Given the description of an element on the screen output the (x, y) to click on. 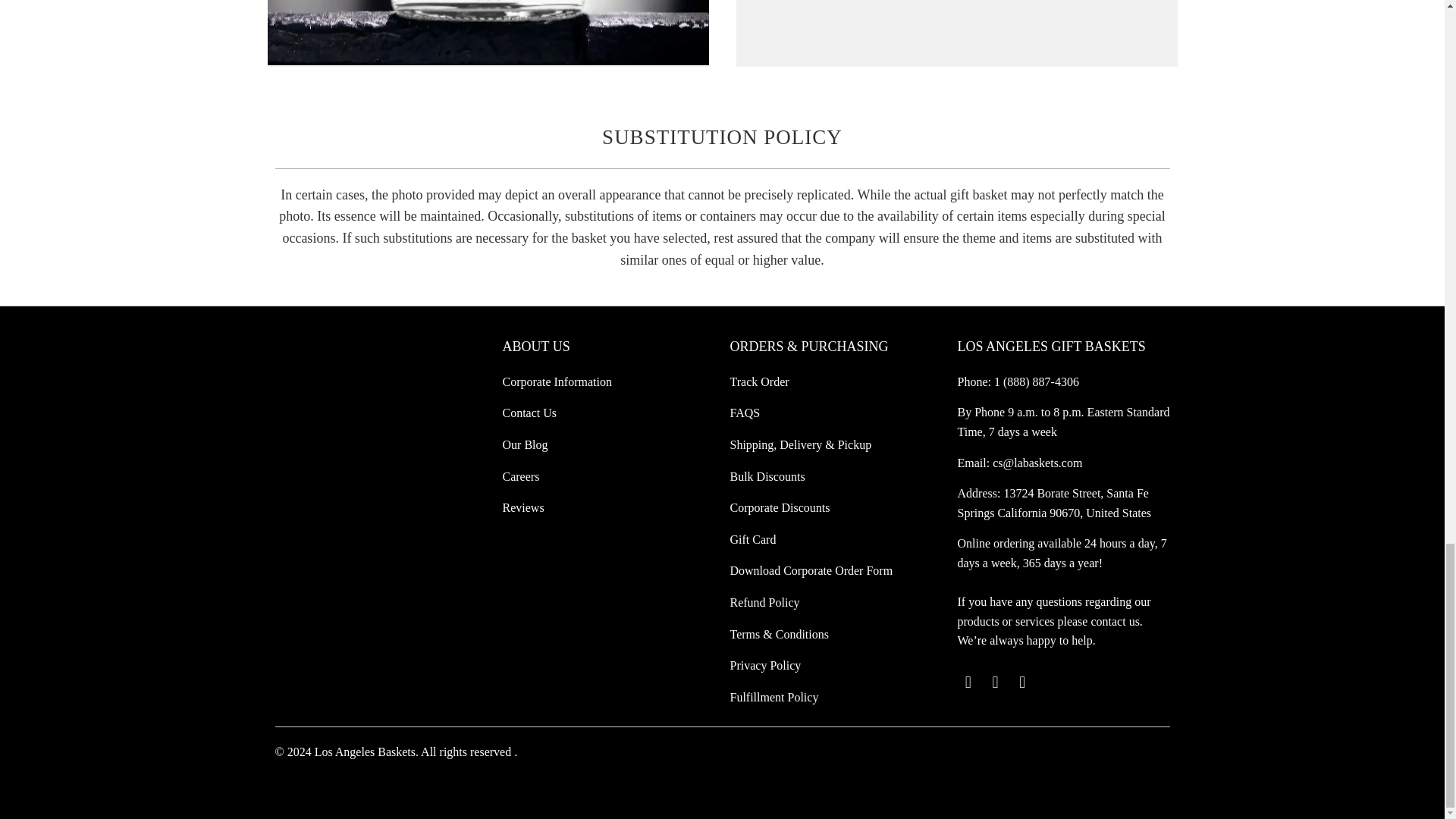
Los Angeles Baskets on Twitter (967, 682)
Los Angeles Baskets on Facebook (995, 682)
Los Angeles Baskets on Instagram (1022, 682)
Absolut Vodka (486, 33)
